Given the description of an element on the screen output the (x, y) to click on. 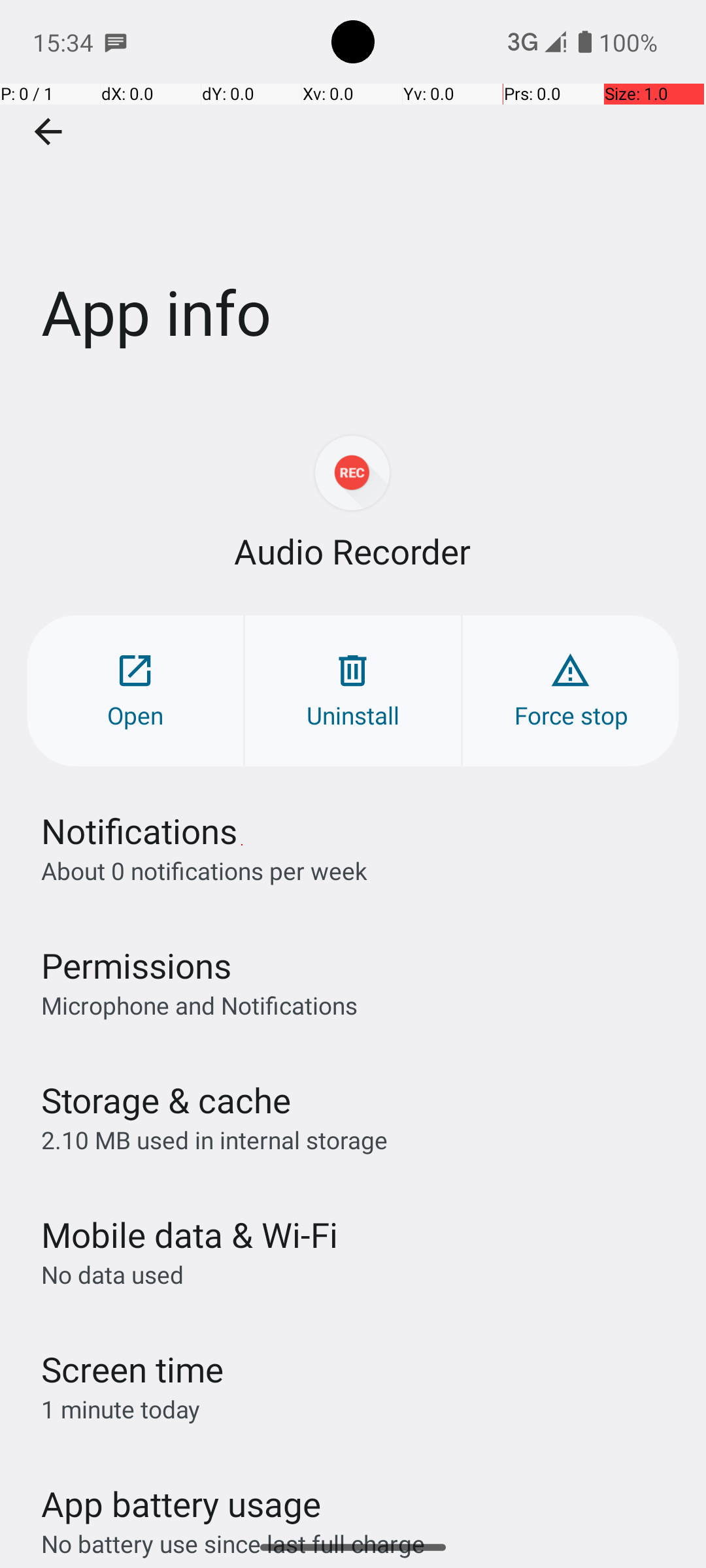
Open Element type: android.widget.Button (135, 690)
Uninstall Element type: android.widget.Button (352, 690)
Force stop Element type: android.widget.Button (570, 690)
About 0 notifications per week Element type: android.widget.TextView (204, 870)
Permissions Element type: android.widget.TextView (136, 965)
Microphone and Notifications Element type: android.widget.TextView (199, 1004)
Storage & cache Element type: android.widget.TextView (166, 1099)
2.10 MB used in internal storage Element type: android.widget.TextView (214, 1139)
No data used Element type: android.widget.TextView (112, 1273)
1 minute today Element type: android.widget.TextView (120, 1408)
App battery usage Element type: android.widget.TextView (181, 1503)
